Given the description of an element on the screen output the (x, y) to click on. 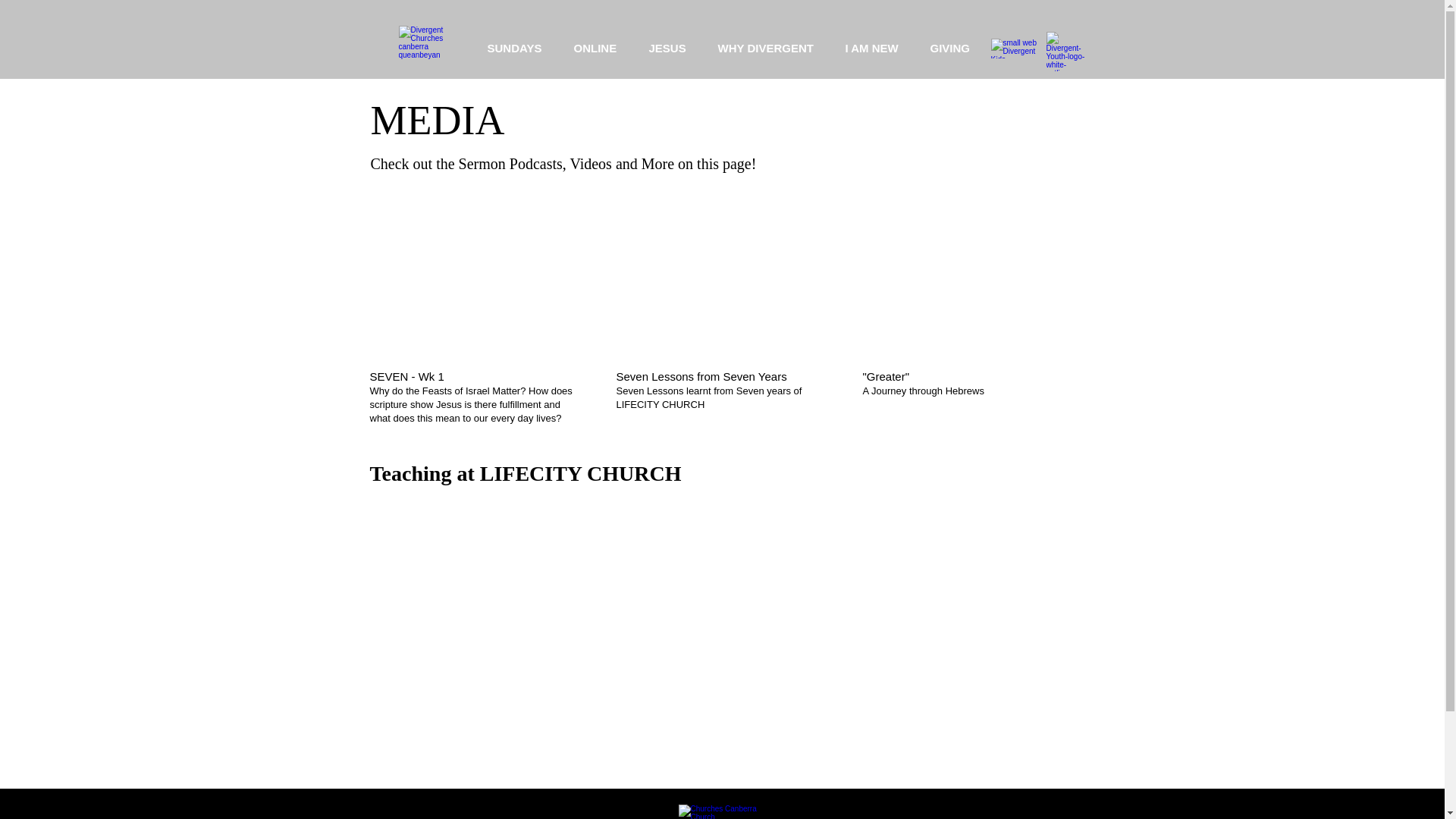
WHY DIVERGENT (770, 48)
I AM NEW (876, 48)
GIVING (954, 48)
External Vimeo (474, 273)
External Vimeo (720, 272)
External Vimeo (968, 272)
JESUS (671, 48)
ONLINE (599, 48)
